Given the description of an element on the screen output the (x, y) to click on. 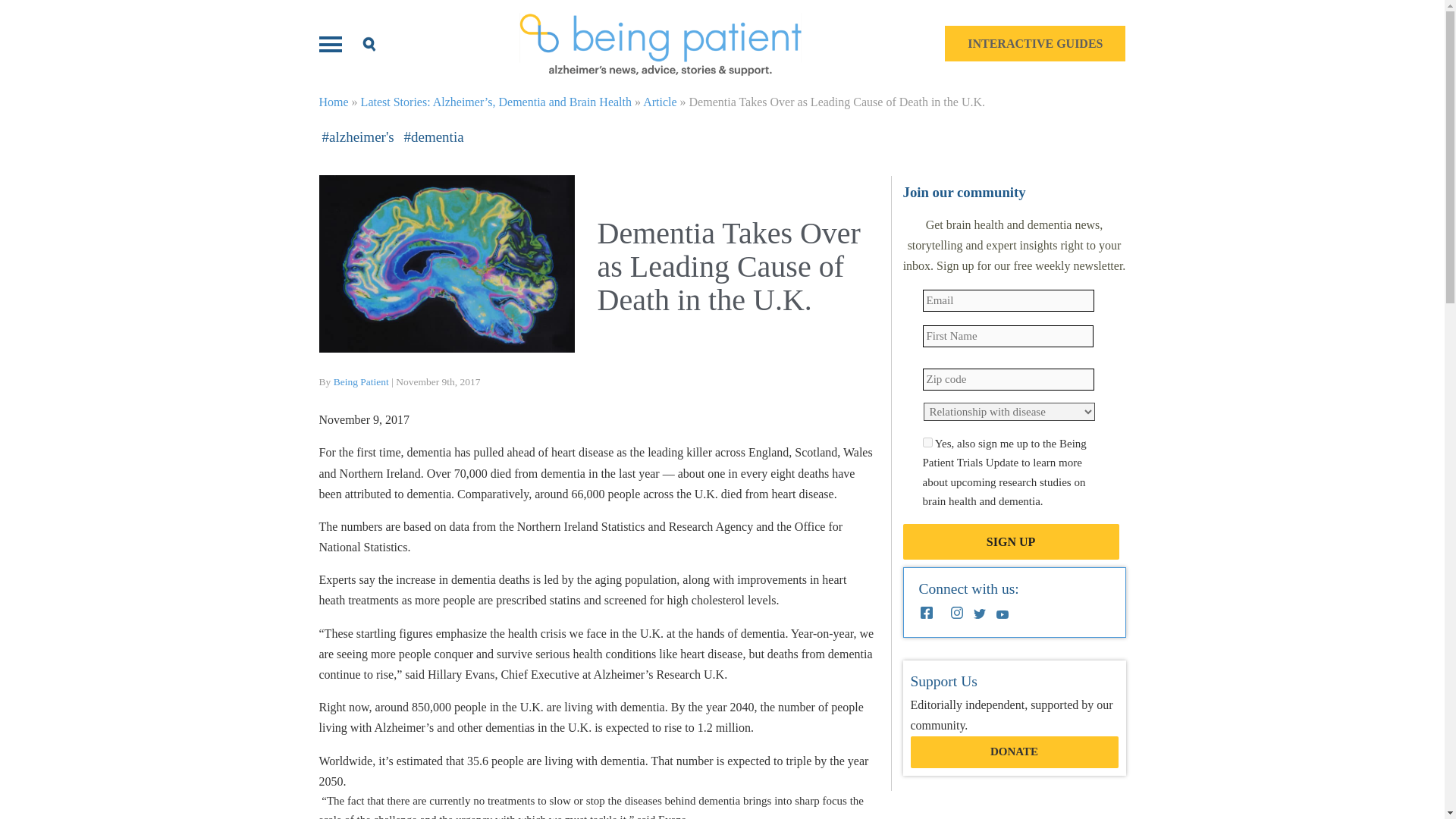
Sign up (1010, 541)
1 (926, 442)
Posts by Being Patient (360, 381)
INTERACTIVE GUIDES (1034, 43)
